Given the description of an element on the screen output the (x, y) to click on. 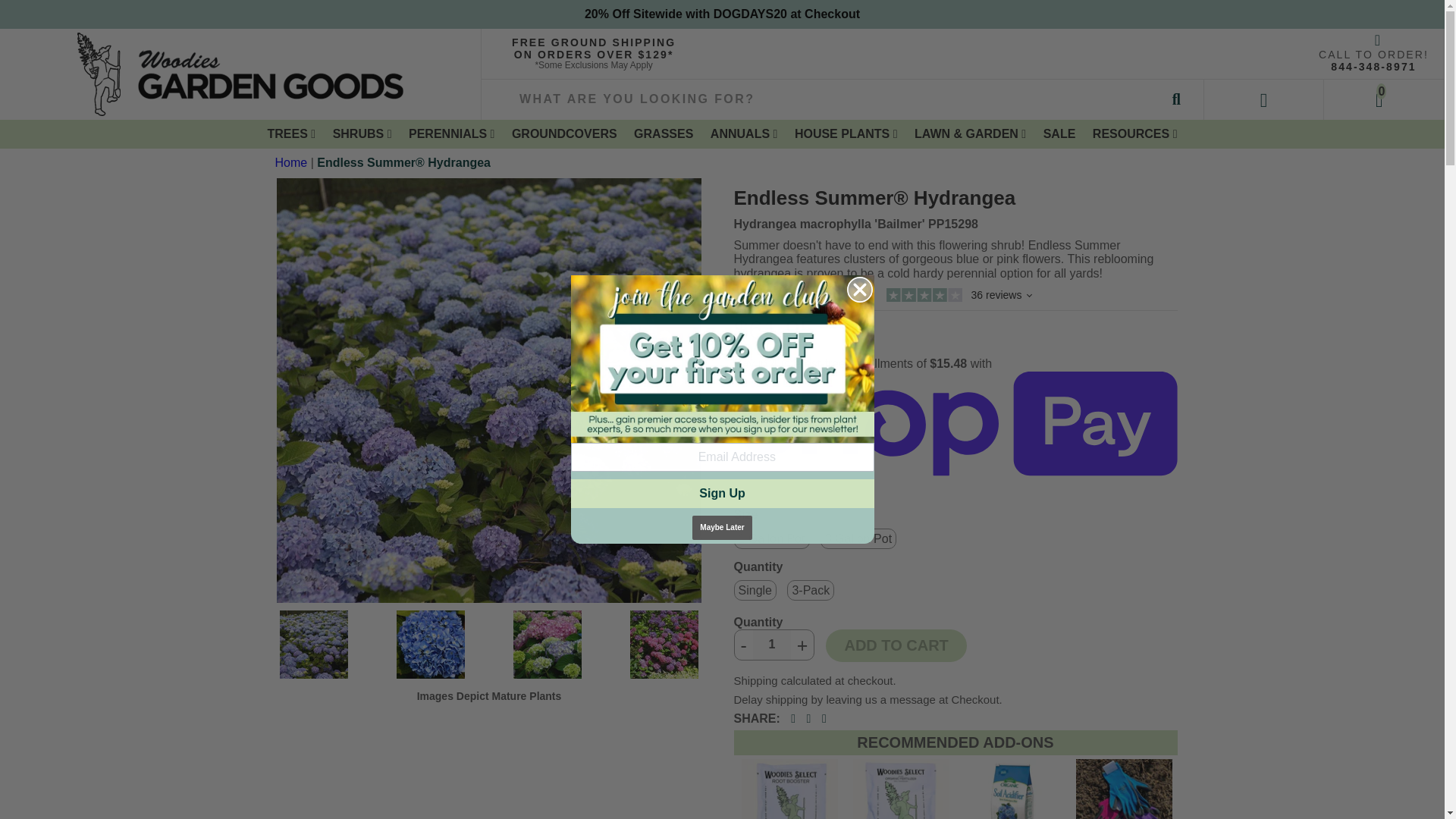
Close dialog 2 (858, 289)
TREES (290, 133)
Customer reviews powered by Trustpilot (955, 297)
844-348-8971 (1373, 66)
1 (771, 644)
